Given the description of an element on the screen output the (x, y) to click on. 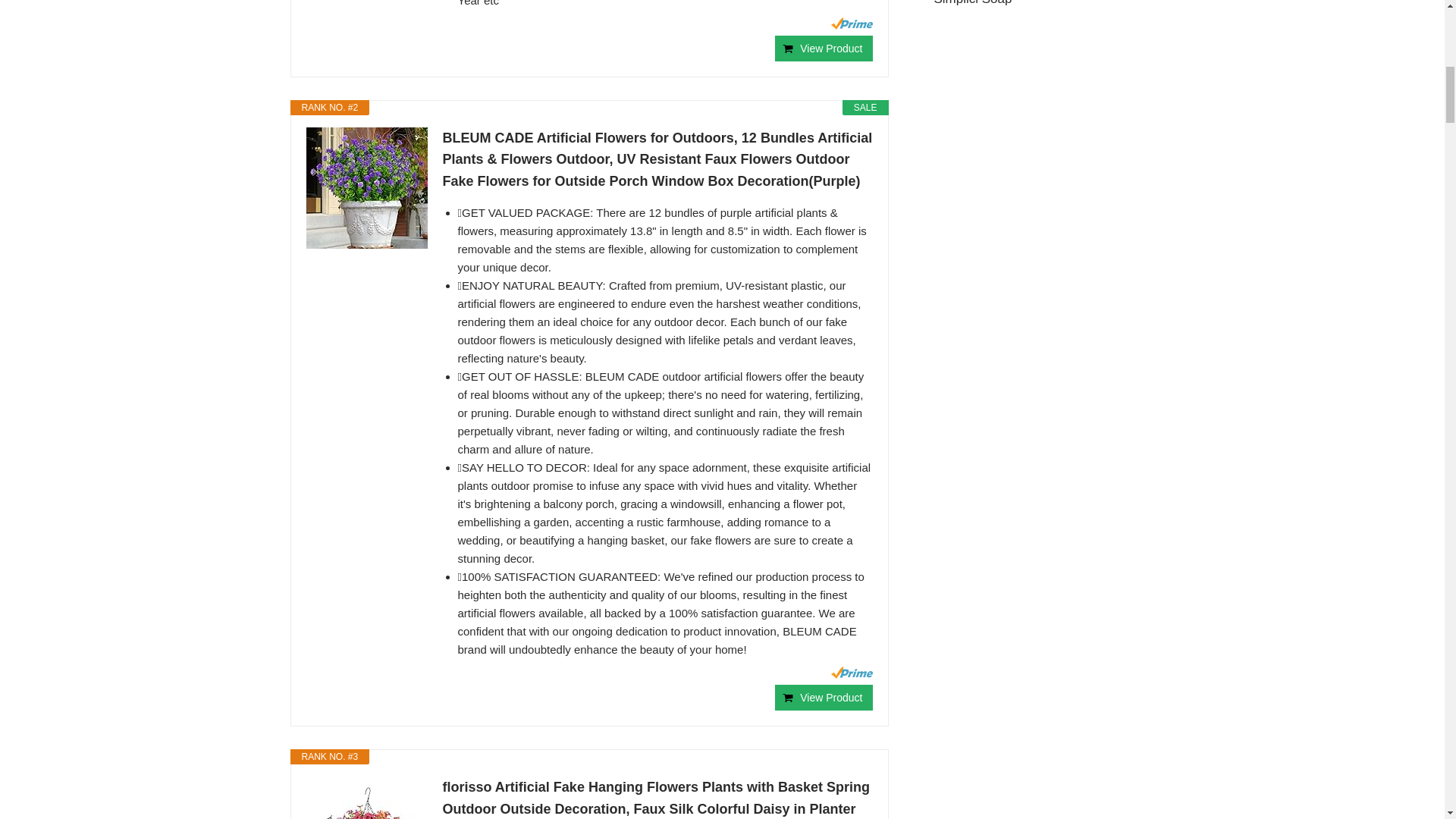
View Product (823, 697)
Amazon Prime (851, 672)
View Product (823, 48)
Amazon Prime (851, 23)
